Given the description of an element on the screen output the (x, y) to click on. 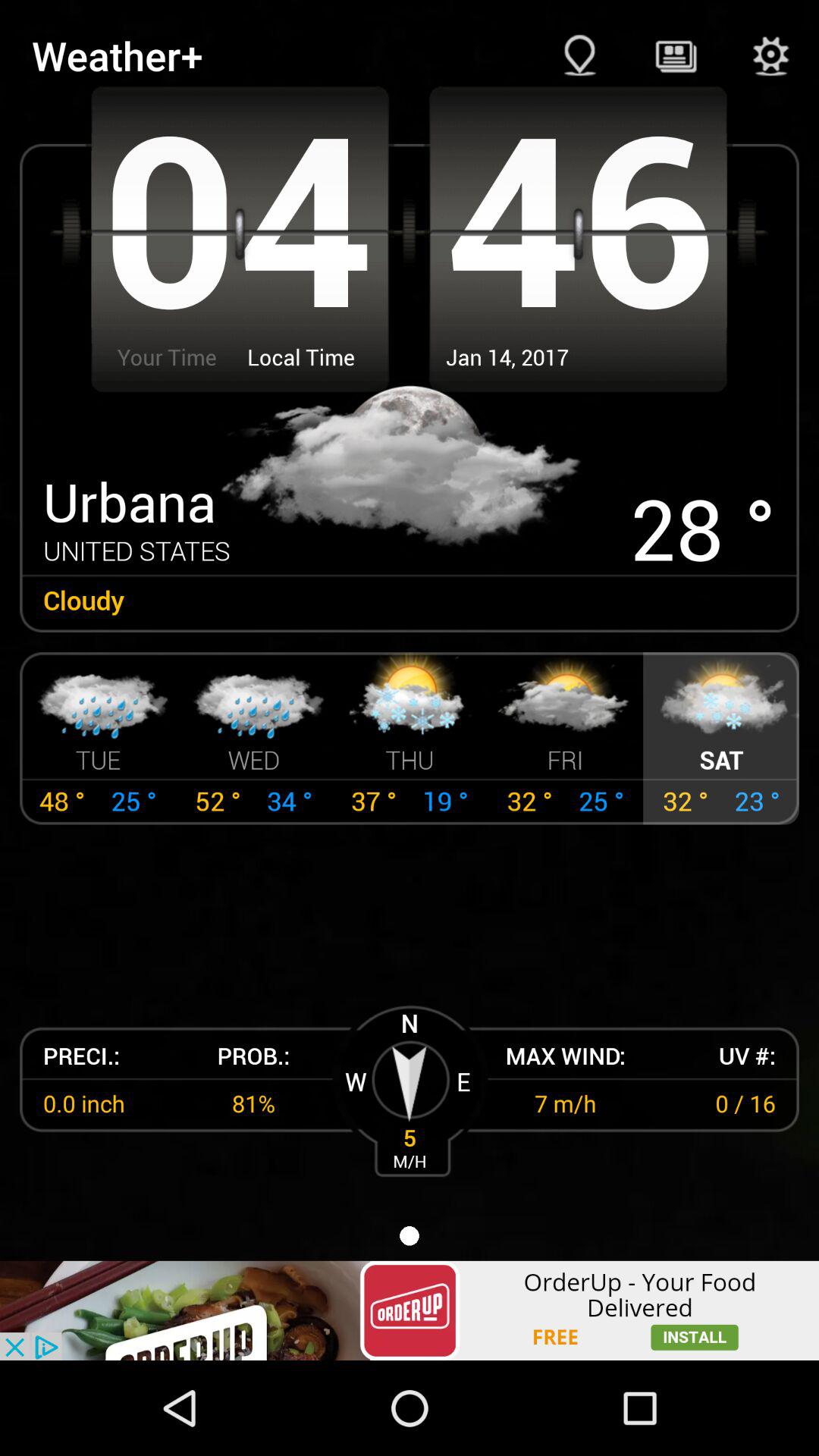
select advertisement (409, 1310)
